Given the description of an element on the screen output the (x, y) to click on. 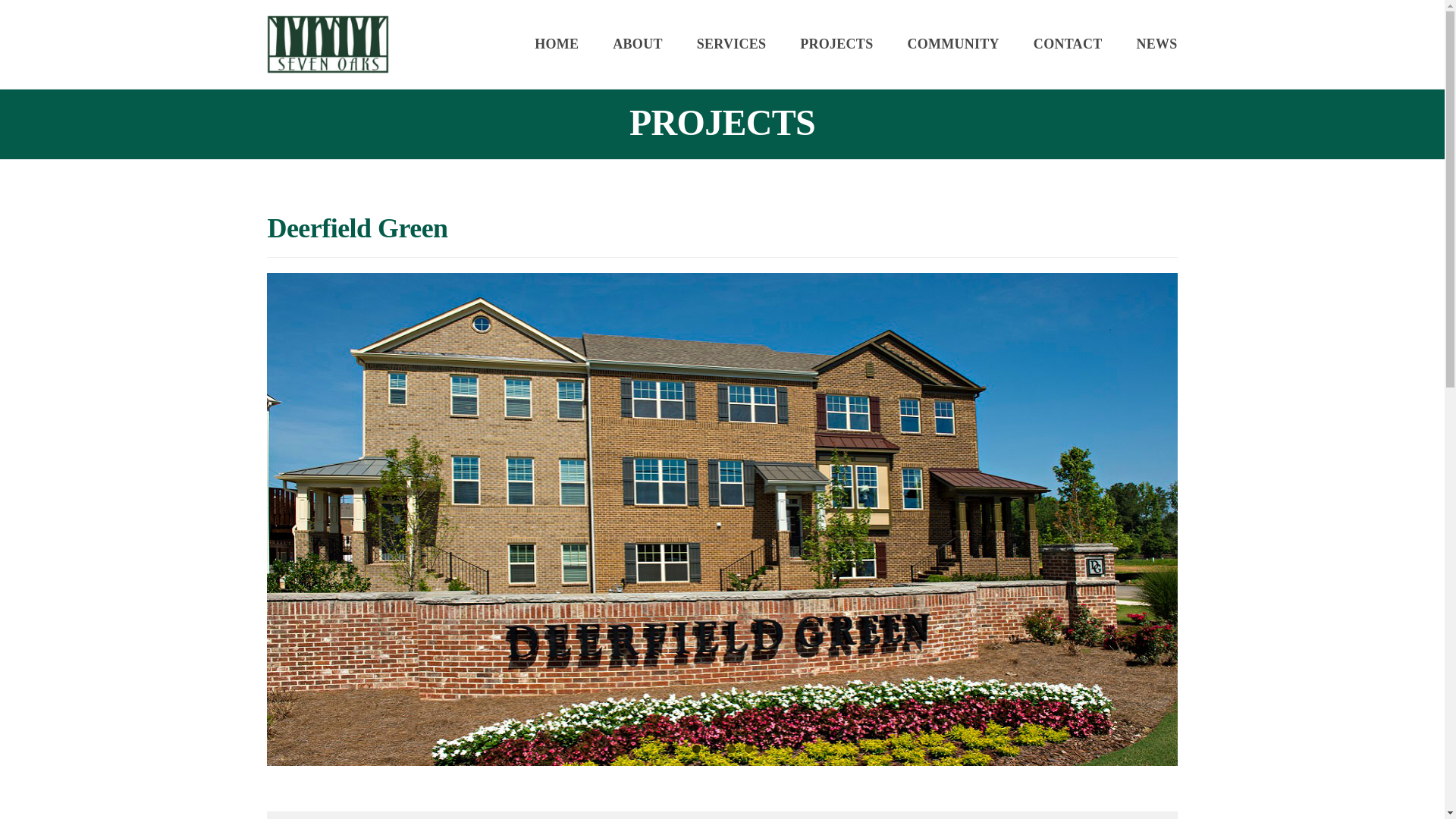
2 (713, 748)
PROJECTS (835, 44)
COMMUNITY (952, 44)
ABOUT (637, 44)
4 (748, 748)
3 (730, 748)
1 (695, 748)
SERVICES (732, 44)
NEWS (1155, 44)
HOME (556, 44)
CONTACT (1067, 44)
